Given the description of an element on the screen output the (x, y) to click on. 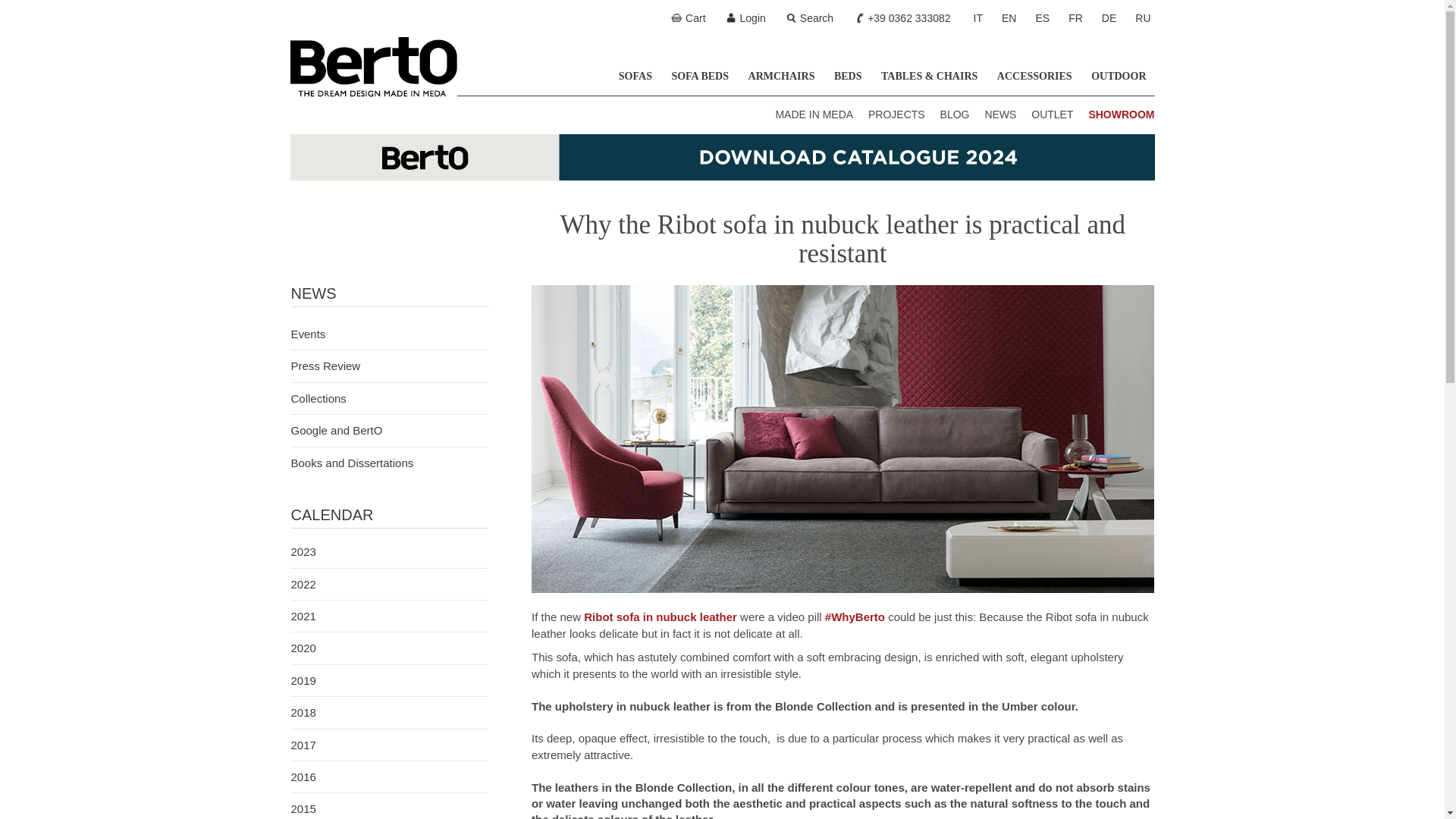
Chiama ora (904, 18)
Search (812, 18)
User profile (749, 18)
SOFA BEDS (699, 76)
SOFAS (635, 76)
Login (749, 18)
ARMCHAIRS (781, 76)
Search (812, 18)
Cart (691, 18)
Bertosofas.co.uk (373, 66)
BEDS (847, 76)
